Given the description of an element on the screen output the (x, y) to click on. 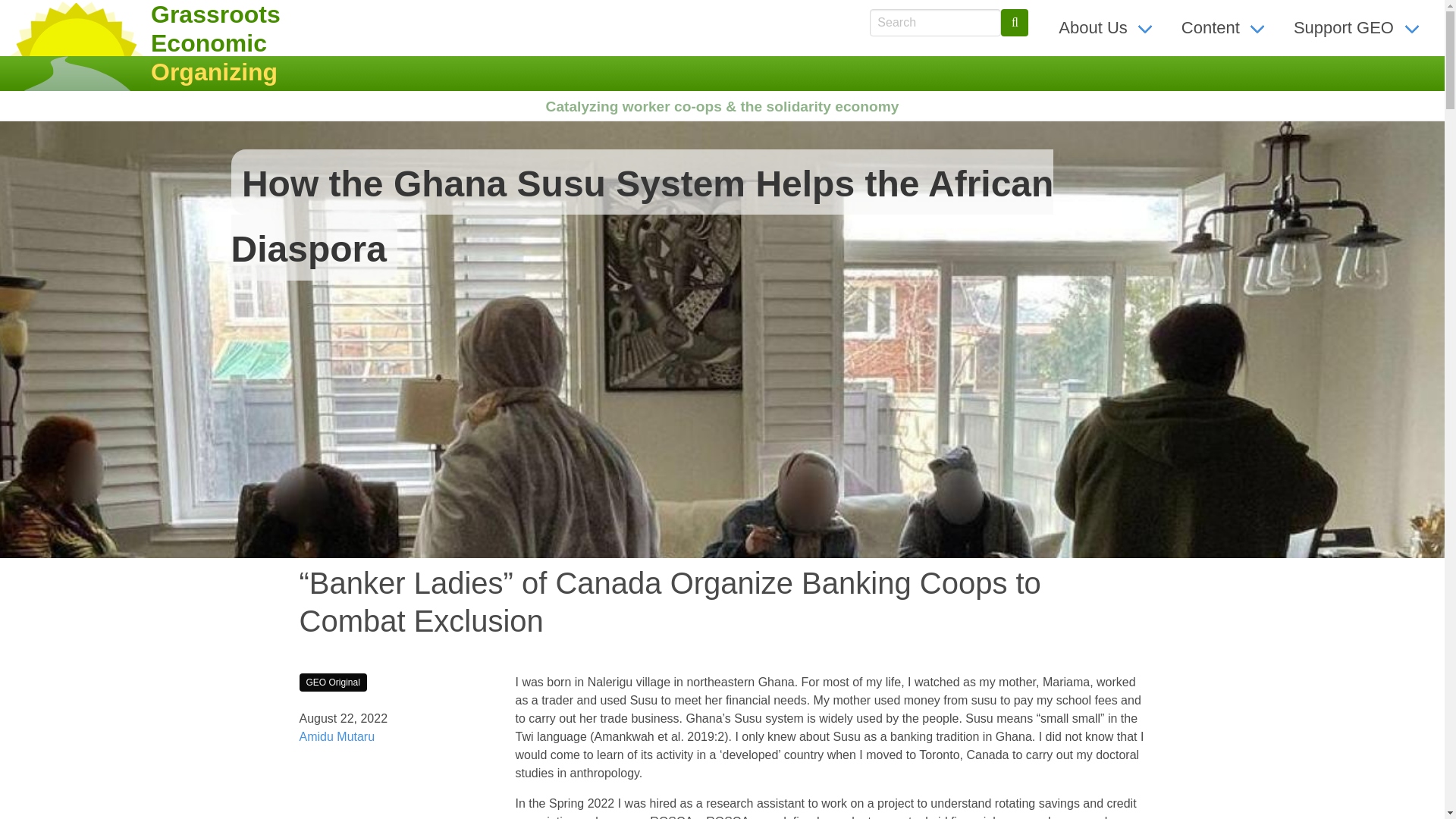
GEO Original (332, 682)
Grassroots Economic Organizing (206, 43)
About GEO (1107, 27)
Search (1014, 22)
Article, Blogs, Gleanings, and More! (1225, 27)
Home (75, 45)
Content (1225, 27)
Amidu Mutaru (336, 736)
Home (206, 43)
Support GEO (1358, 27)
About Us (1107, 27)
